Given the description of an element on the screen output the (x, y) to click on. 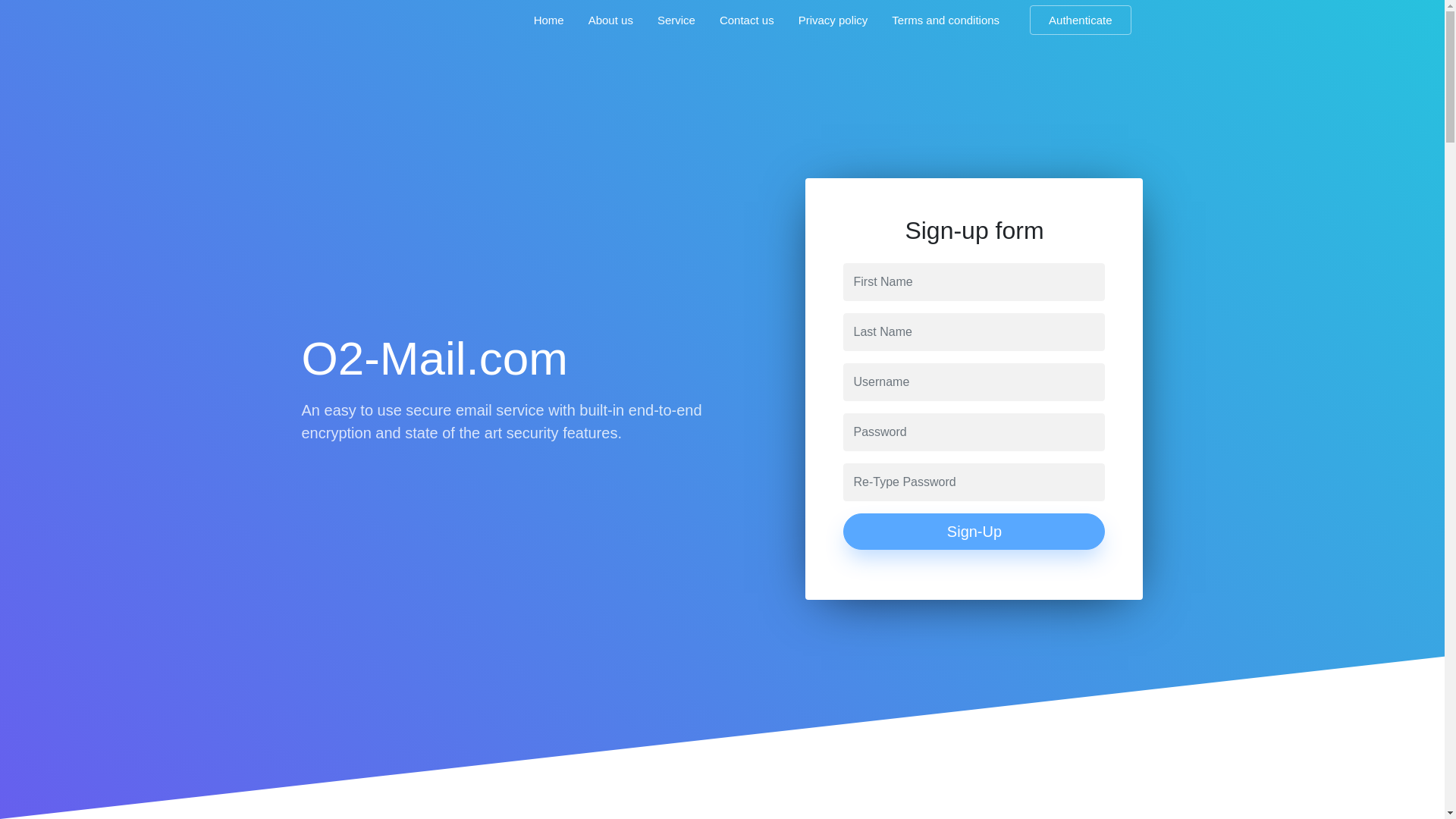
Sign-Up (974, 531)
Contact us (746, 20)
Authenticate (1079, 20)
About us (610, 20)
Terms and conditions (945, 20)
Service (676, 20)
Privacy policy (833, 20)
Home (548, 20)
